Given the description of an element on the screen output the (x, y) to click on. 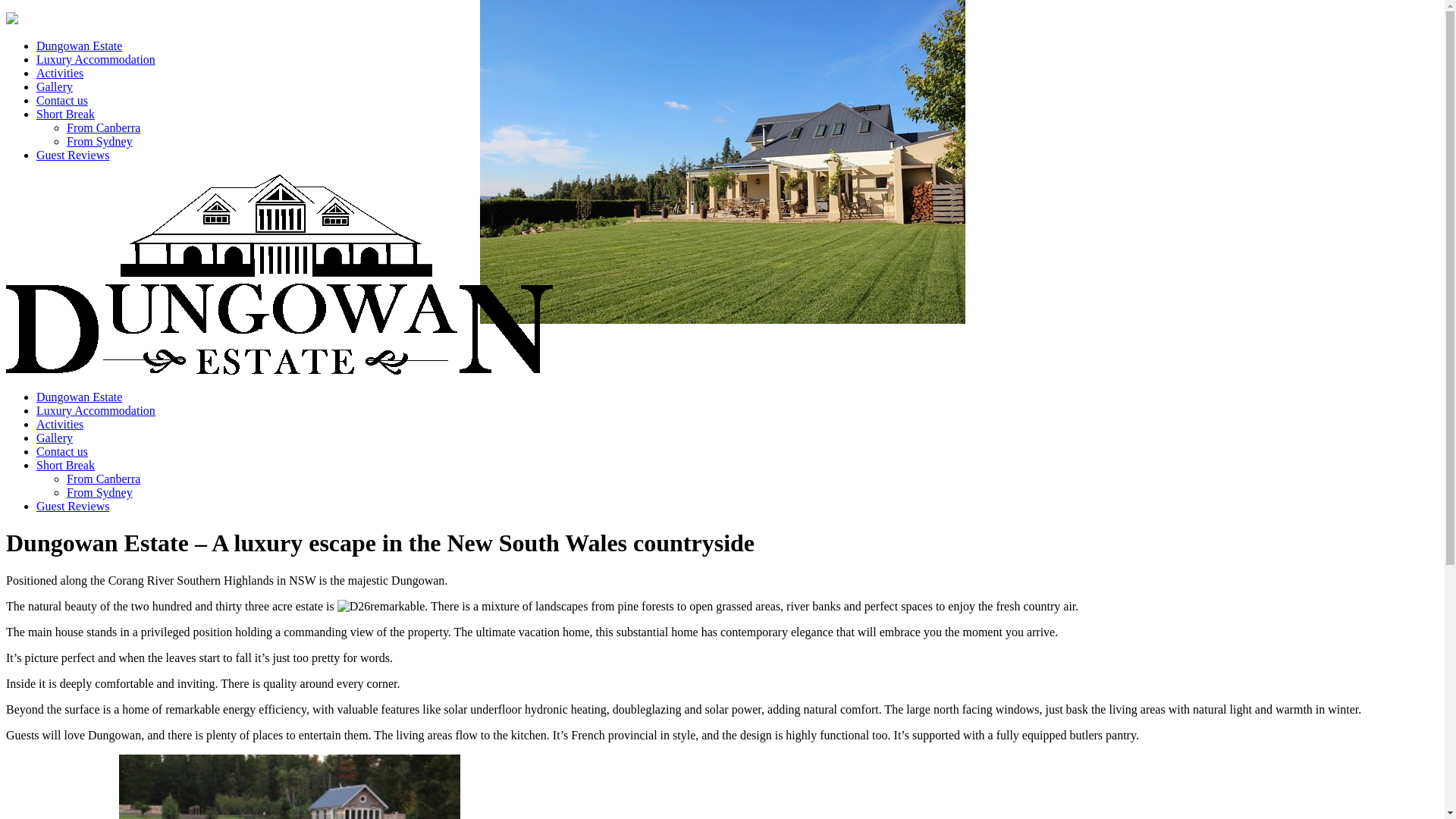
Activities Element type: text (59, 72)
Contact us Element type: text (61, 451)
From Canberra Element type: text (103, 127)
Luxury Accommodation Element type: text (95, 59)
Guest Reviews Element type: text (72, 505)
Gallery Element type: text (54, 437)
Dungowan Estate Element type: text (79, 396)
Gallery Element type: text (54, 86)
Contact us Element type: text (61, 100)
Luxury Accommodation Element type: text (95, 410)
From Canberra Element type: text (103, 478)
From Sydney Element type: text (99, 492)
Guest Reviews Element type: text (72, 154)
Activities Element type: text (59, 423)
Short Break Element type: text (65, 464)
From Sydney Element type: text (99, 140)
Short Break Element type: text (65, 113)
Dungowan Estate Element type: text (79, 45)
